Given the description of an element on the screen output the (x, y) to click on. 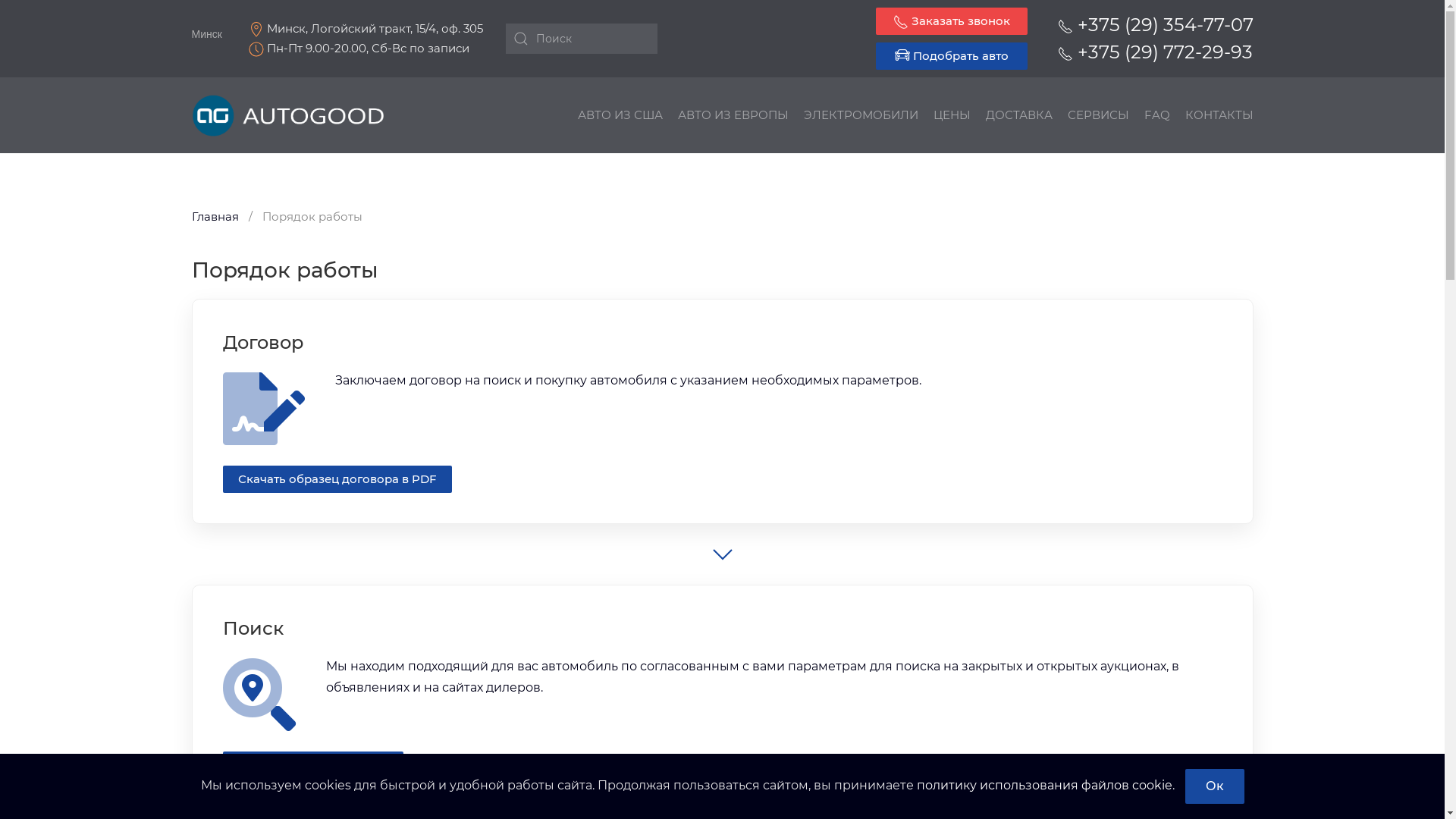
FAQ Element type: text (1155, 114)
+375 (29) 772-29-93 Element type: text (1154, 51)
+375 (29) 354-77-07 Element type: text (1154, 24)
